Given the description of an element on the screen output the (x, y) to click on. 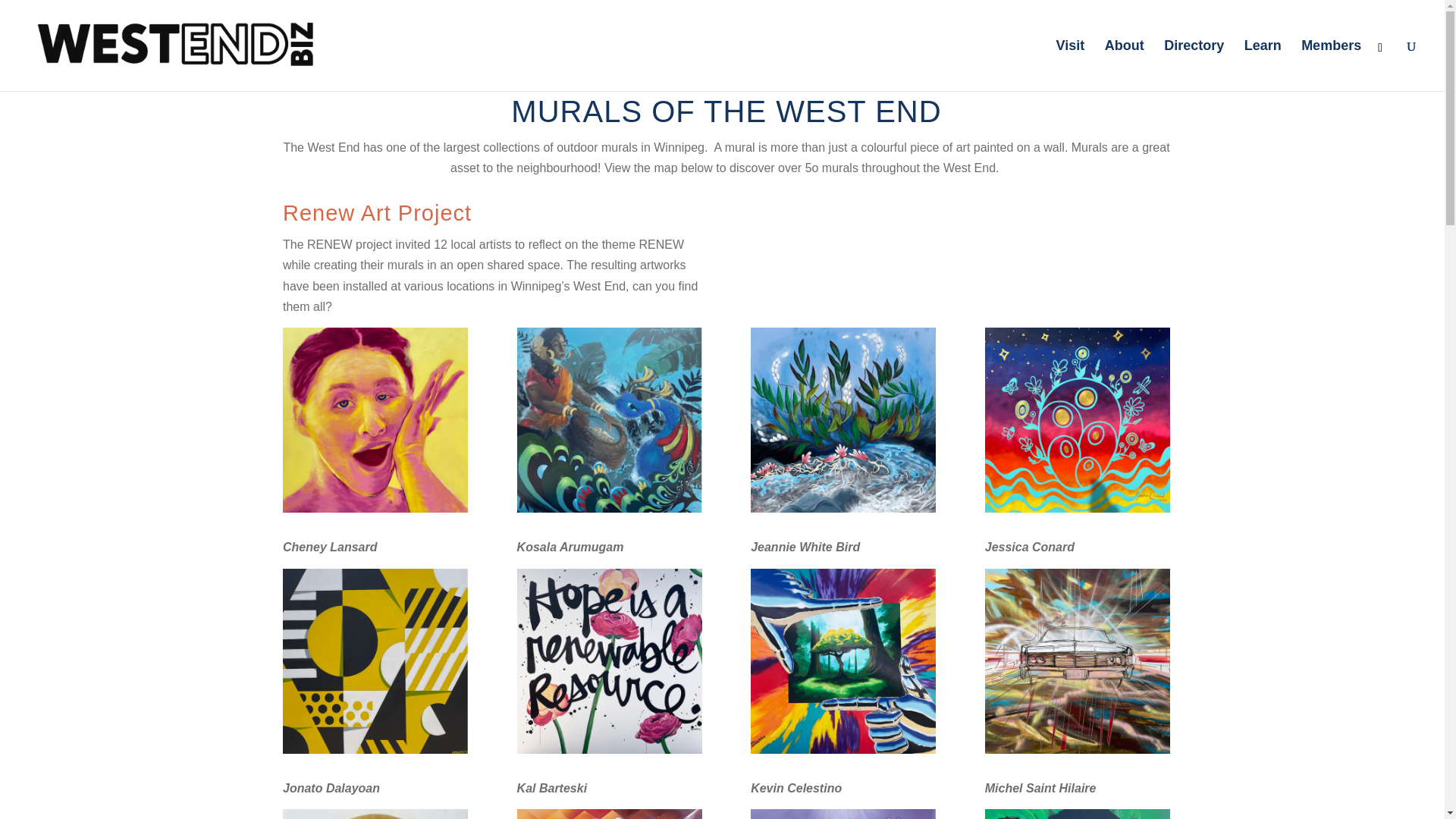
6 (608, 660)
Members (1331, 65)
7 (843, 660)
2 (608, 419)
5 (374, 660)
11 (843, 814)
Untitled design (608, 814)
8 (1077, 660)
Directory (1193, 65)
4 (1077, 419)
